Given the description of an element on the screen output the (x, y) to click on. 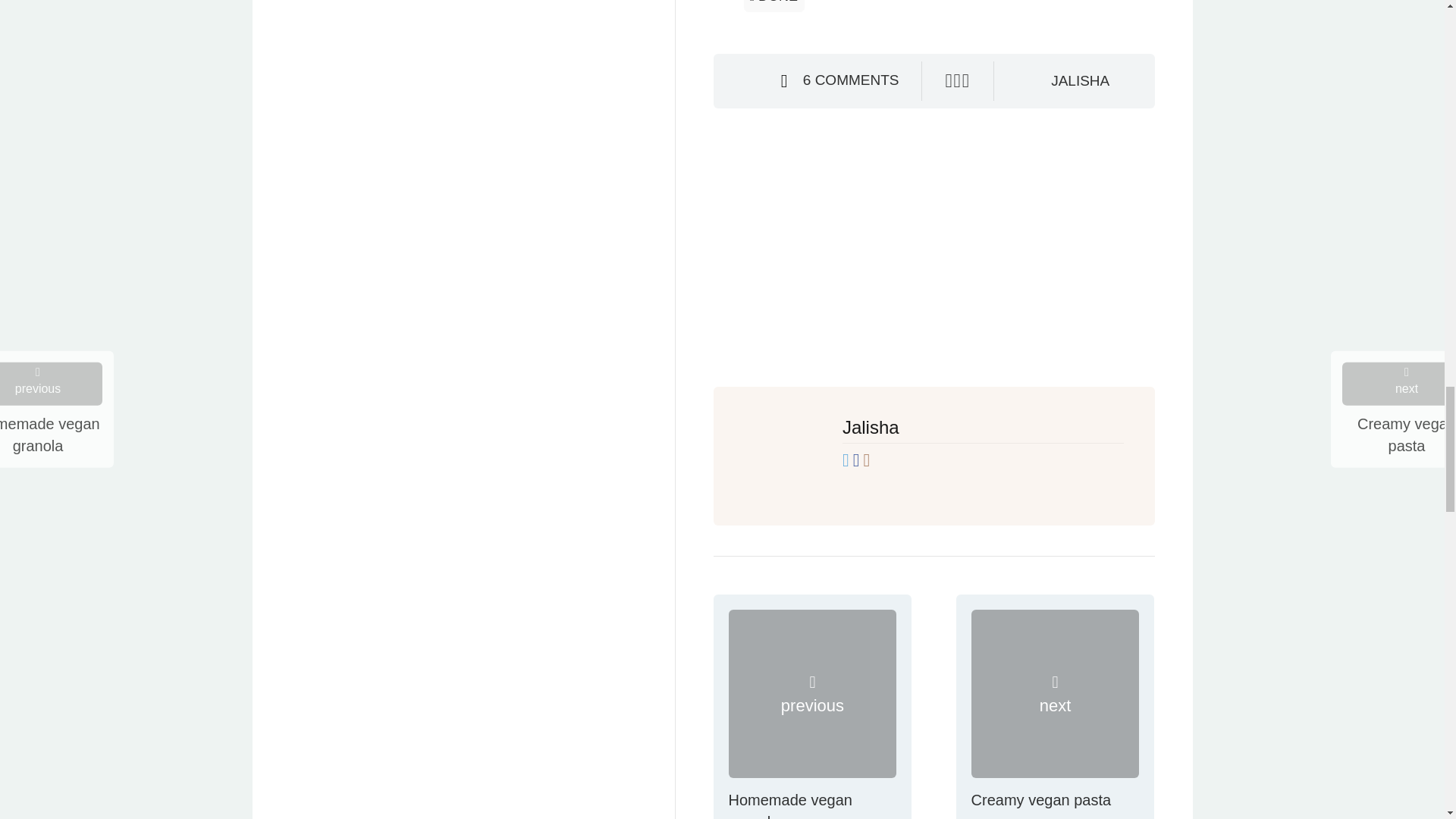
Posts by Jalisha (1080, 80)
